Given the description of an element on the screen output the (x, y) to click on. 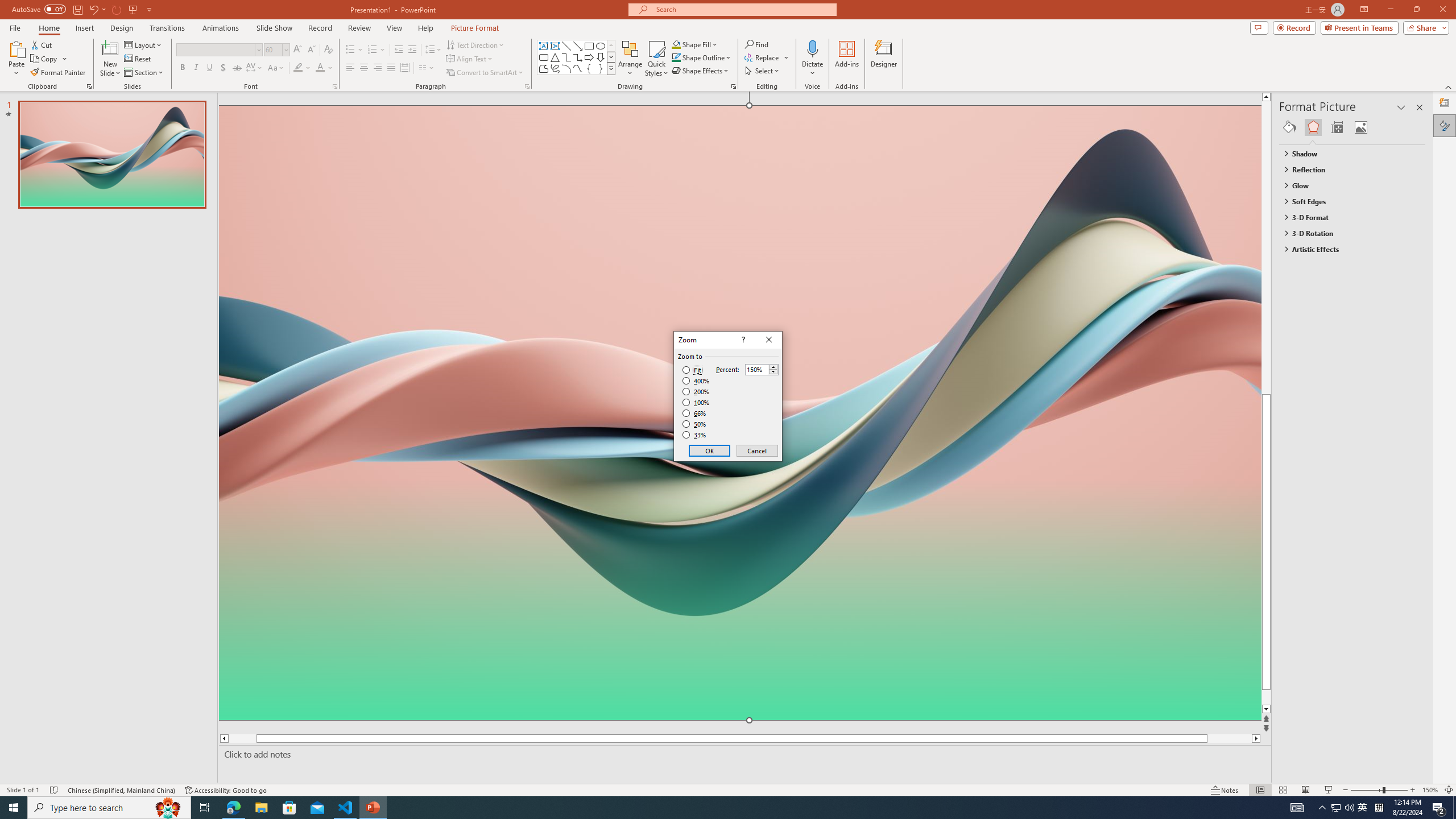
Picture (1361, 126)
